Given the description of an element on the screen output the (x, y) to click on. 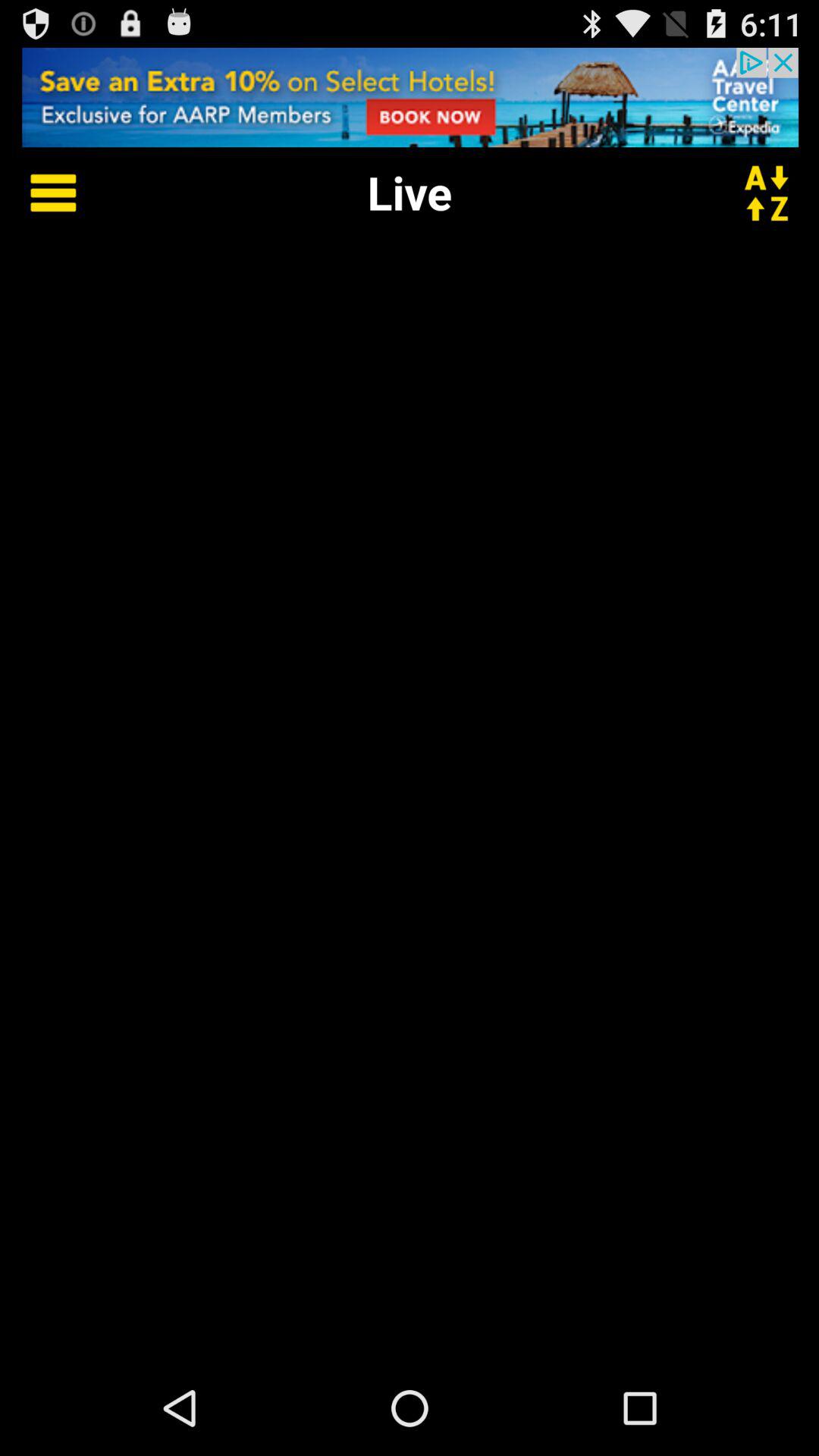
menu (42, 192)
